Given the description of an element on the screen output the (x, y) to click on. 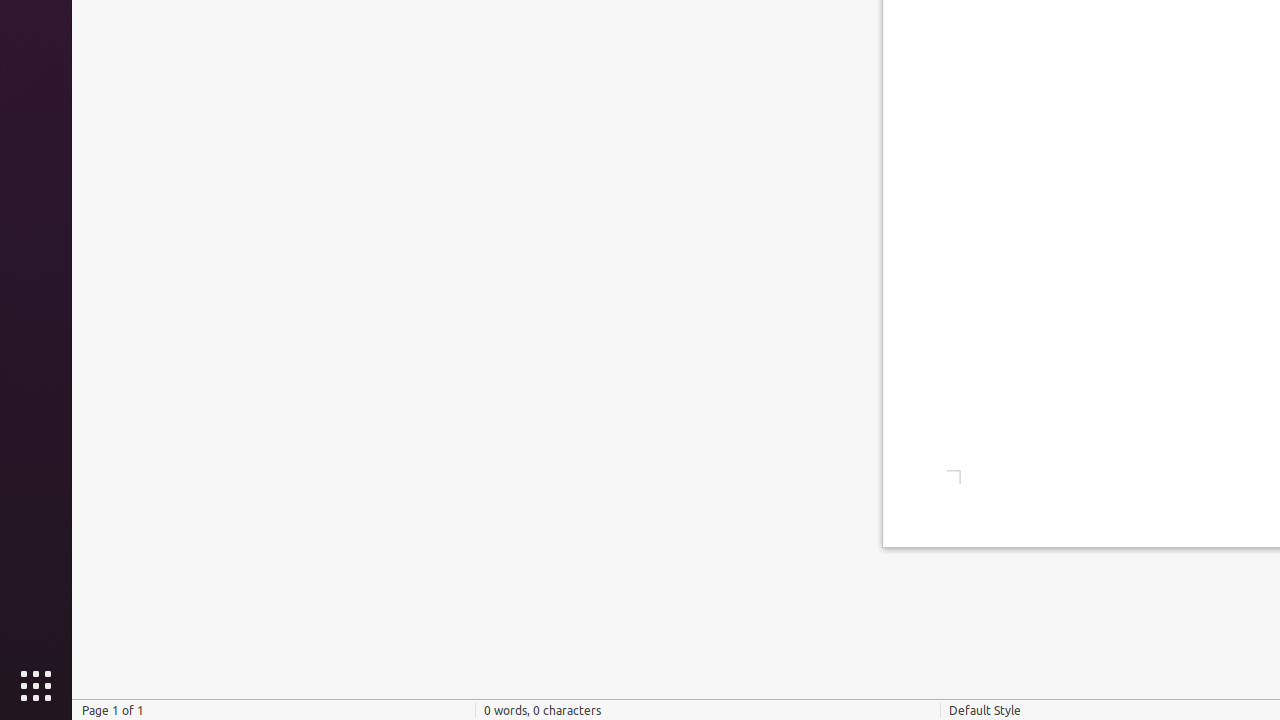
Show Applications Element type: toggle-button (36, 686)
